Given the description of an element on the screen output the (x, y) to click on. 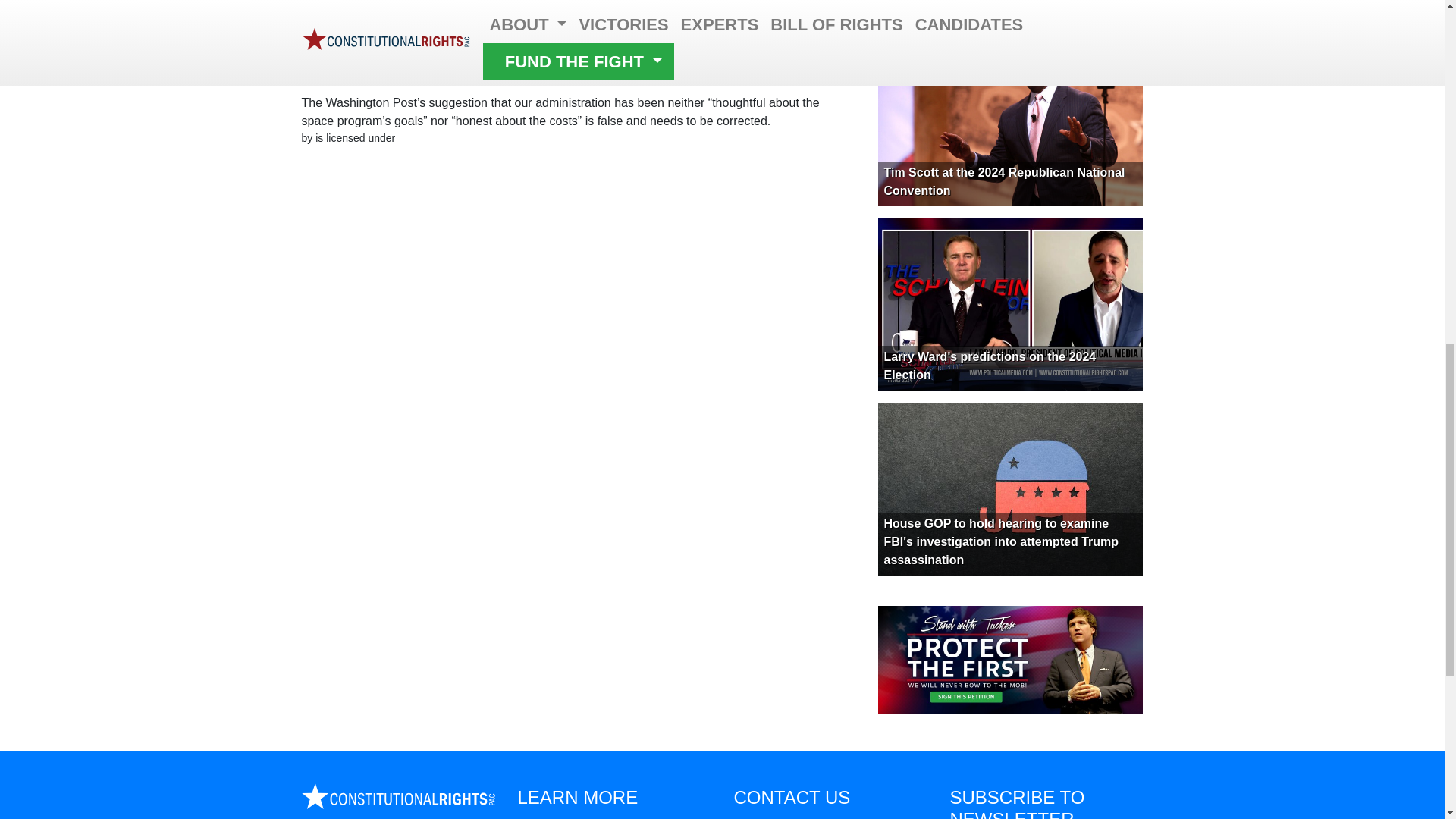
Tim Scott at the 2024 Republican National Convention (1004, 181)
Larry Ward's predictions on the 2024 Election (989, 365)
